Given the description of an element on the screen output the (x, y) to click on. 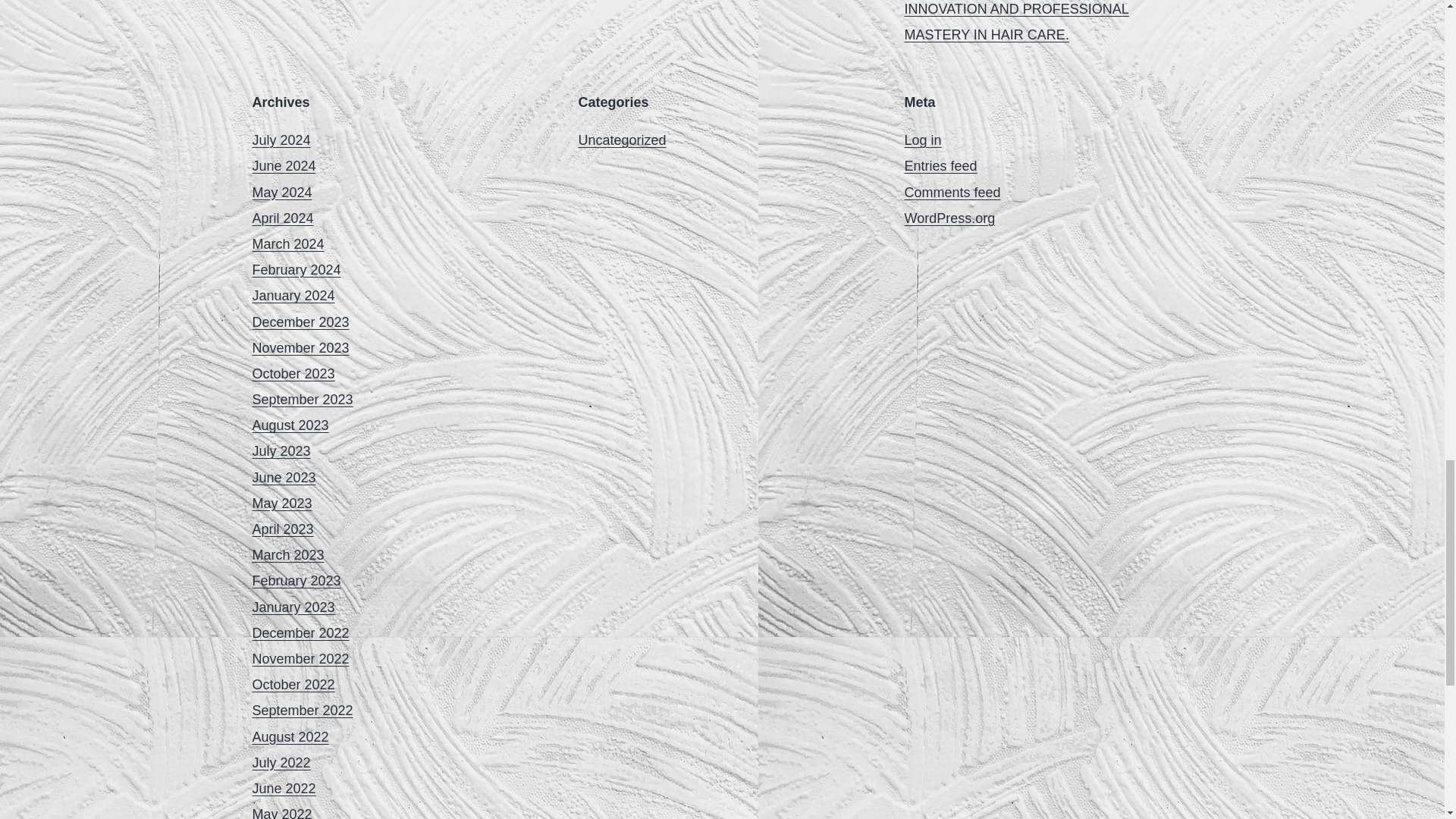
July 2024 (280, 140)
